Given the description of an element on the screen output the (x, y) to click on. 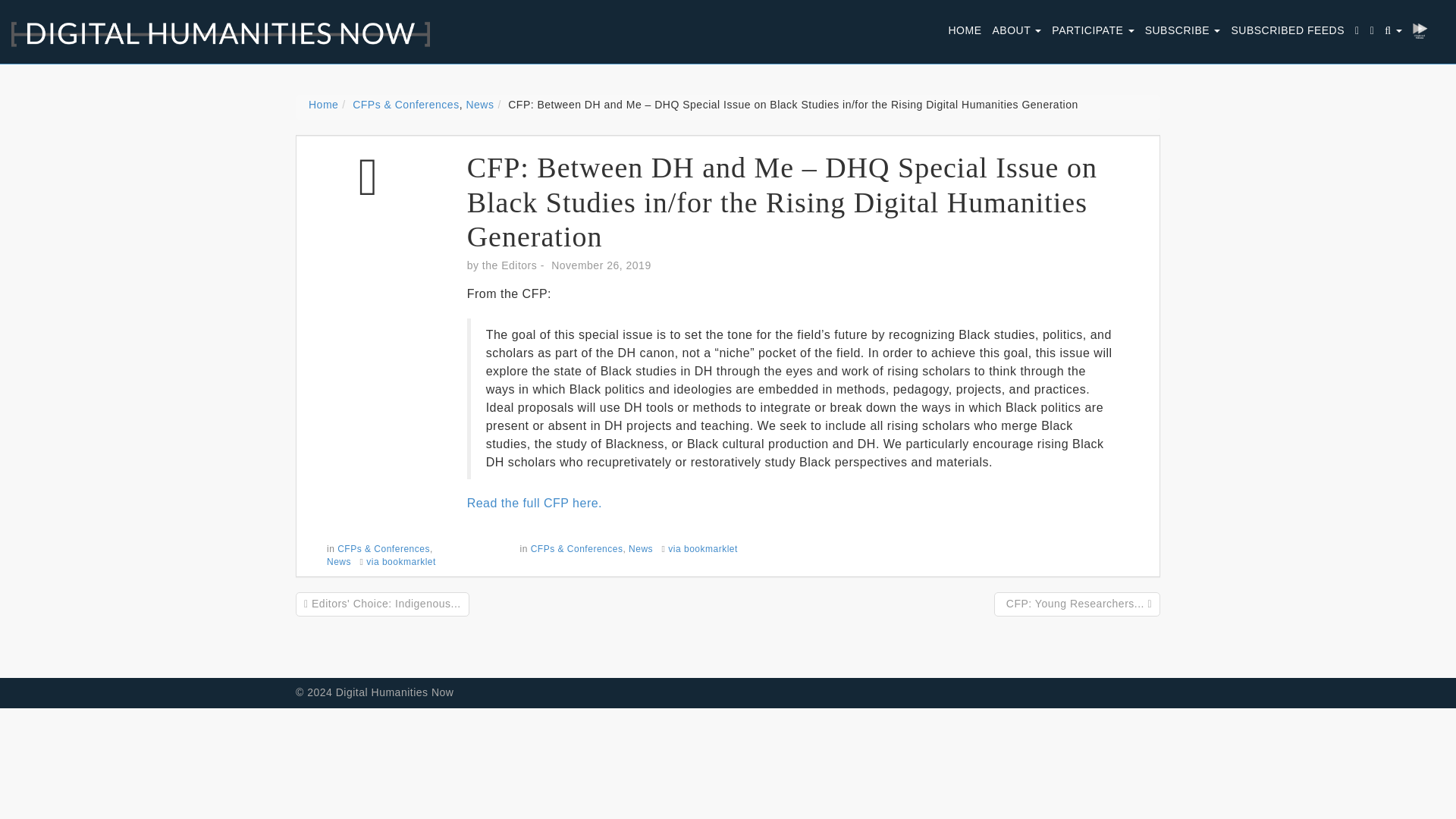
PARTICIPATE (1092, 30)
About (1016, 30)
News (640, 548)
Participate (1092, 30)
Subscribed Feeds (1287, 30)
News (479, 104)
 CFP: Young Researchers...  (1077, 603)
Digital Humanities Now (214, 26)
SUBSCRIBED FEEDS (1287, 30)
via bookmarklet (703, 548)
Subscribe (1182, 30)
News (338, 561)
HOME (964, 30)
via bookmarklet (400, 561)
Read the full CFP here. (534, 502)
